Given the description of an element on the screen output the (x, y) to click on. 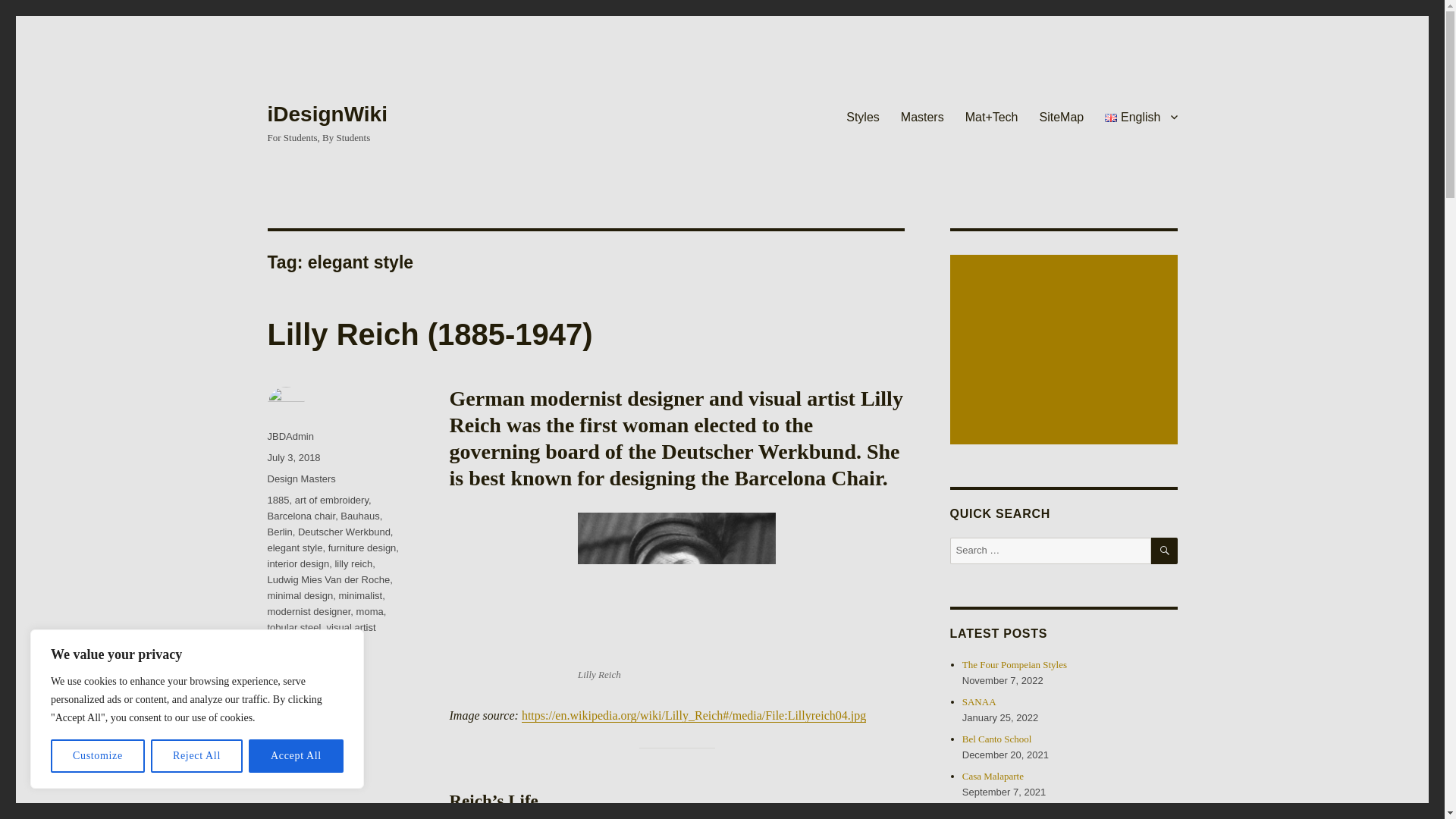
SiteMap (1061, 116)
Customize (97, 756)
Accept All (295, 756)
iDesignWiki (326, 114)
Reject All (197, 756)
Styles (862, 116)
English (1141, 116)
Masters (922, 116)
